Given the description of an element on the screen output the (x, y) to click on. 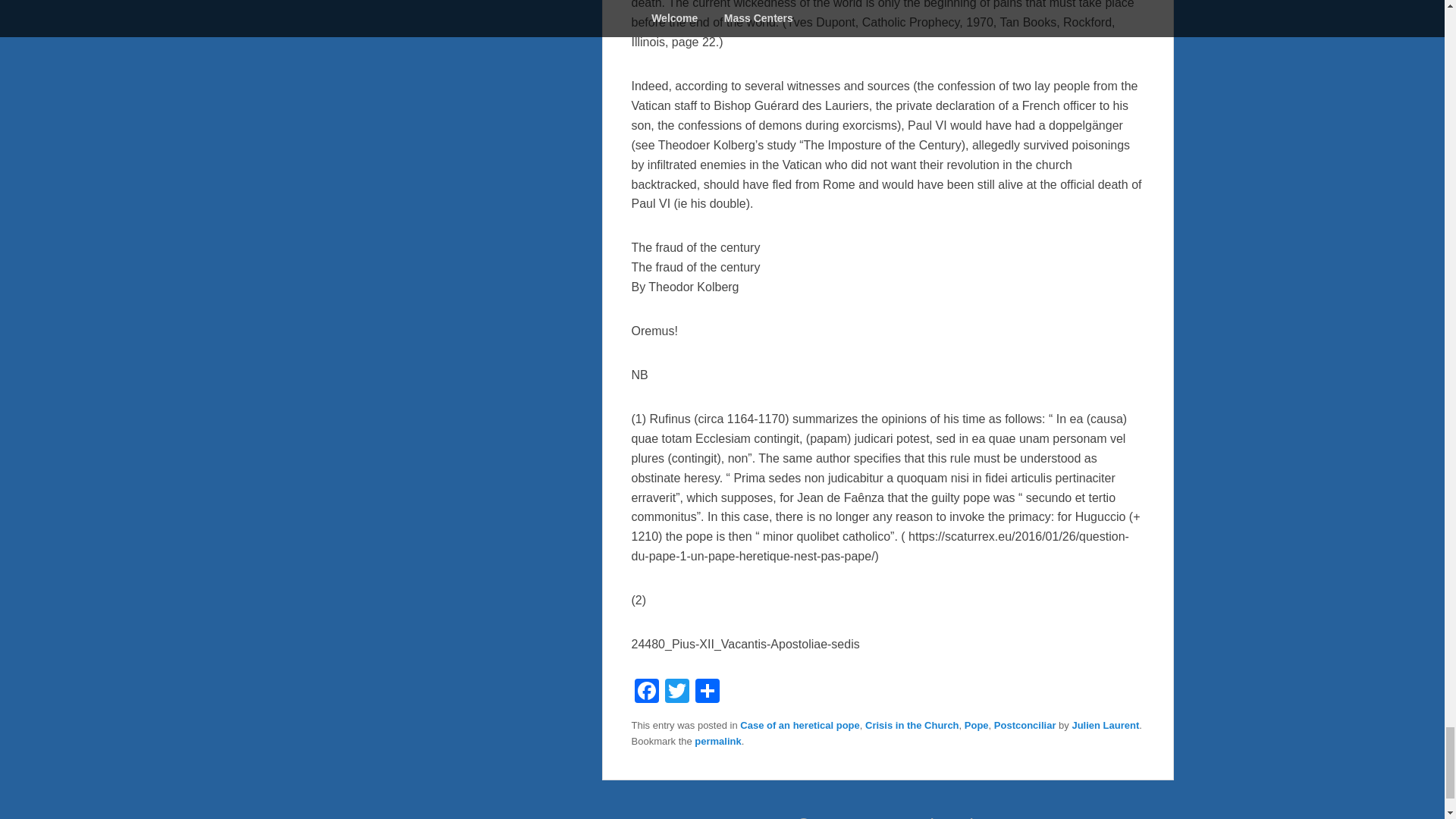
Twitter (676, 691)
Facebook (645, 691)
